Given the description of an element on the screen output the (x, y) to click on. 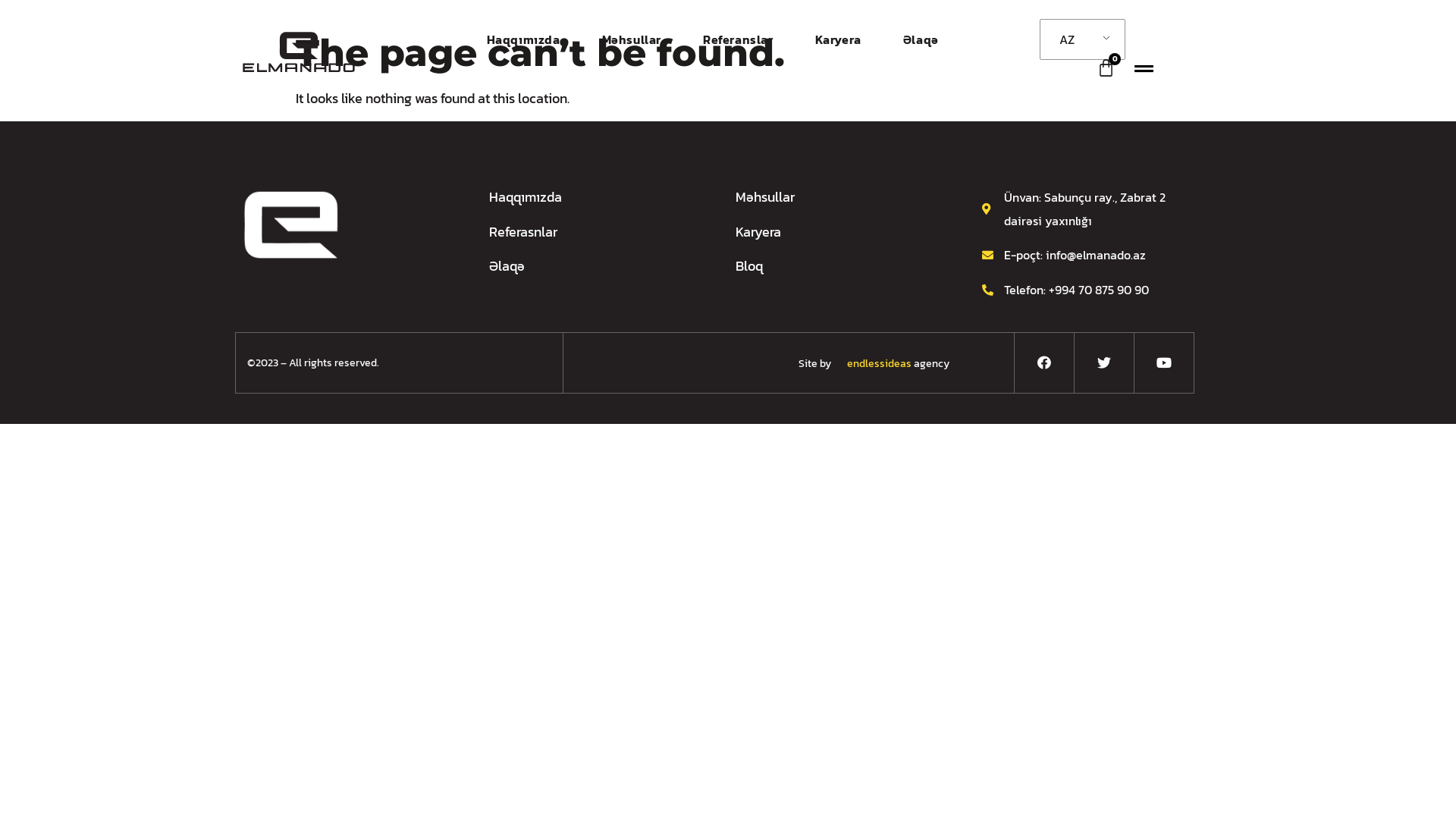
Karyera Element type: text (838, 38)
Referanslar Element type: text (737, 38)
Karyera Element type: text (839, 232)
Referasnlar Element type: text (593, 232)
AZ Element type: text (1079, 39)
Telefon: +994 70 875 90 90 Element type: text (1086, 289)
Bloq Element type: text (839, 266)
 endlessideas Element type: text (872, 364)
